Given the description of an element on the screen output the (x, y) to click on. 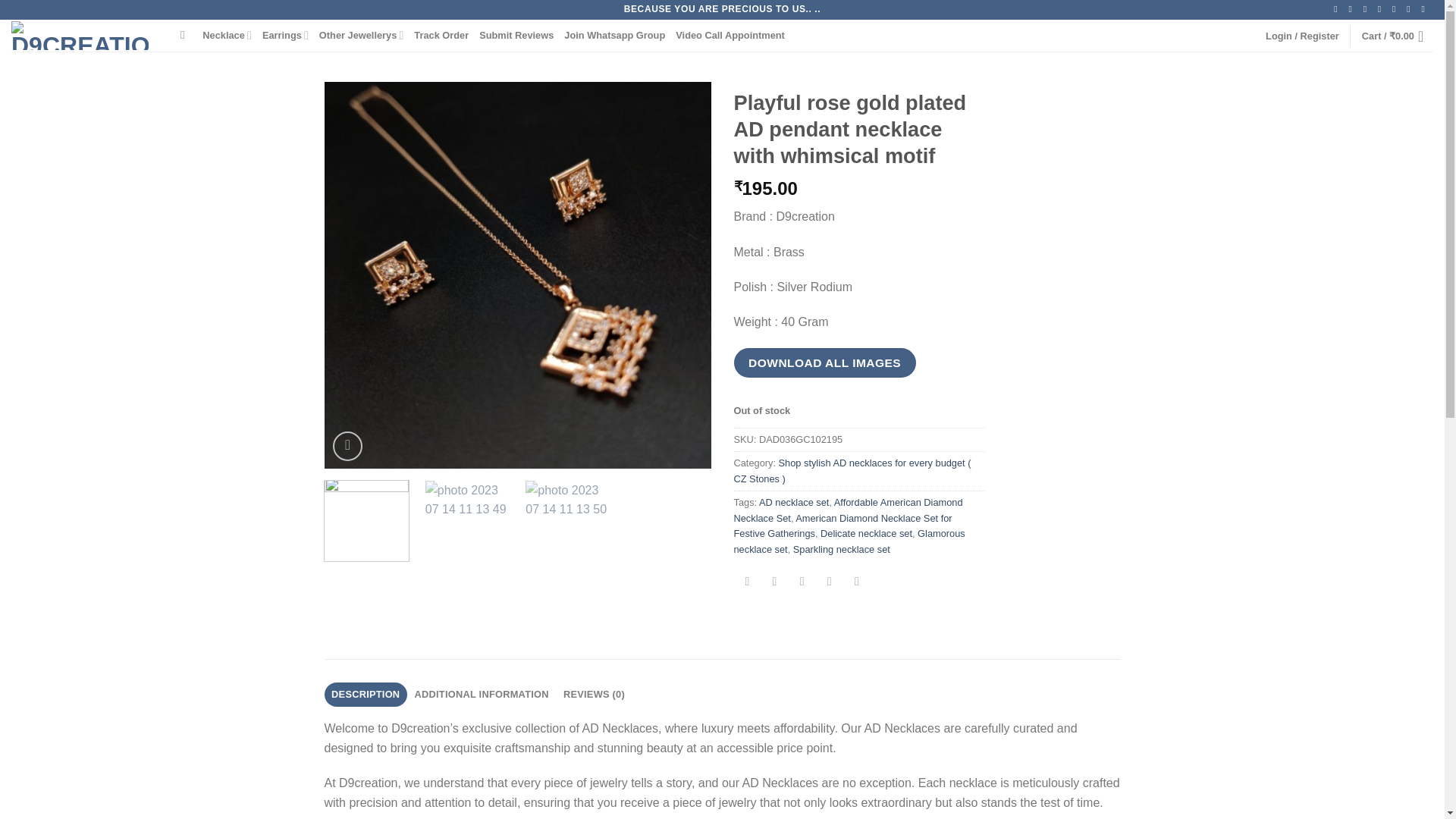
D9creation - Because you are precious to us.. (84, 35)
Login (1302, 35)
Download All Images (824, 362)
Earrings (285, 34)
Submit Reviews (516, 35)
Other Jewellerys (360, 34)
Cart (1396, 36)
Track Order (440, 35)
Join Whatsapp Group (614, 35)
Necklace (226, 34)
Video Call Appointment (729, 35)
